Given the description of an element on the screen output the (x, y) to click on. 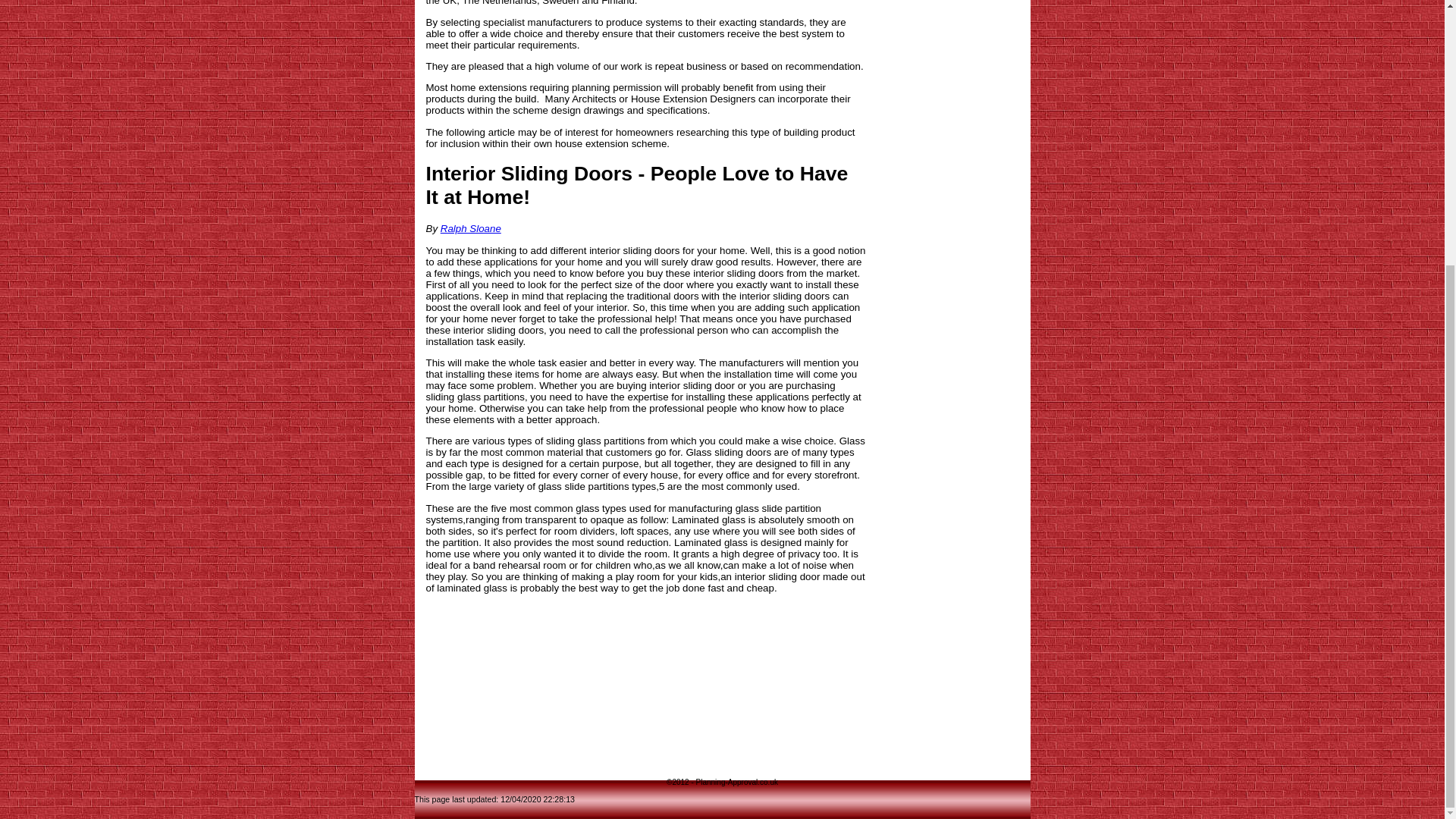
Ralph Sloane (470, 228)
EzineArticles Expert Author Ralph Sloane (470, 228)
